Given the description of an element on the screen output the (x, y) to click on. 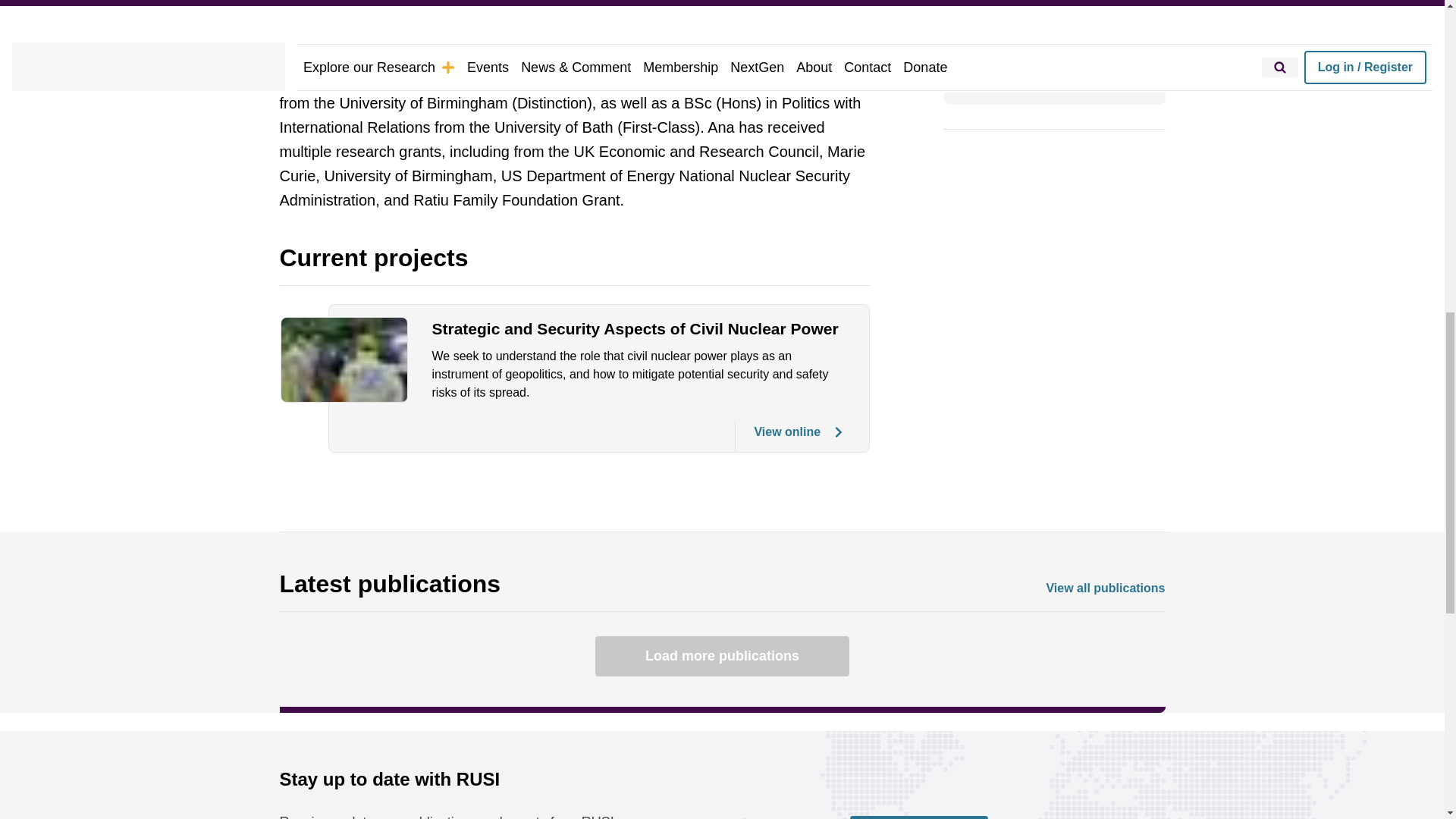
View online (789, 436)
